Given the description of an element on the screen output the (x, y) to click on. 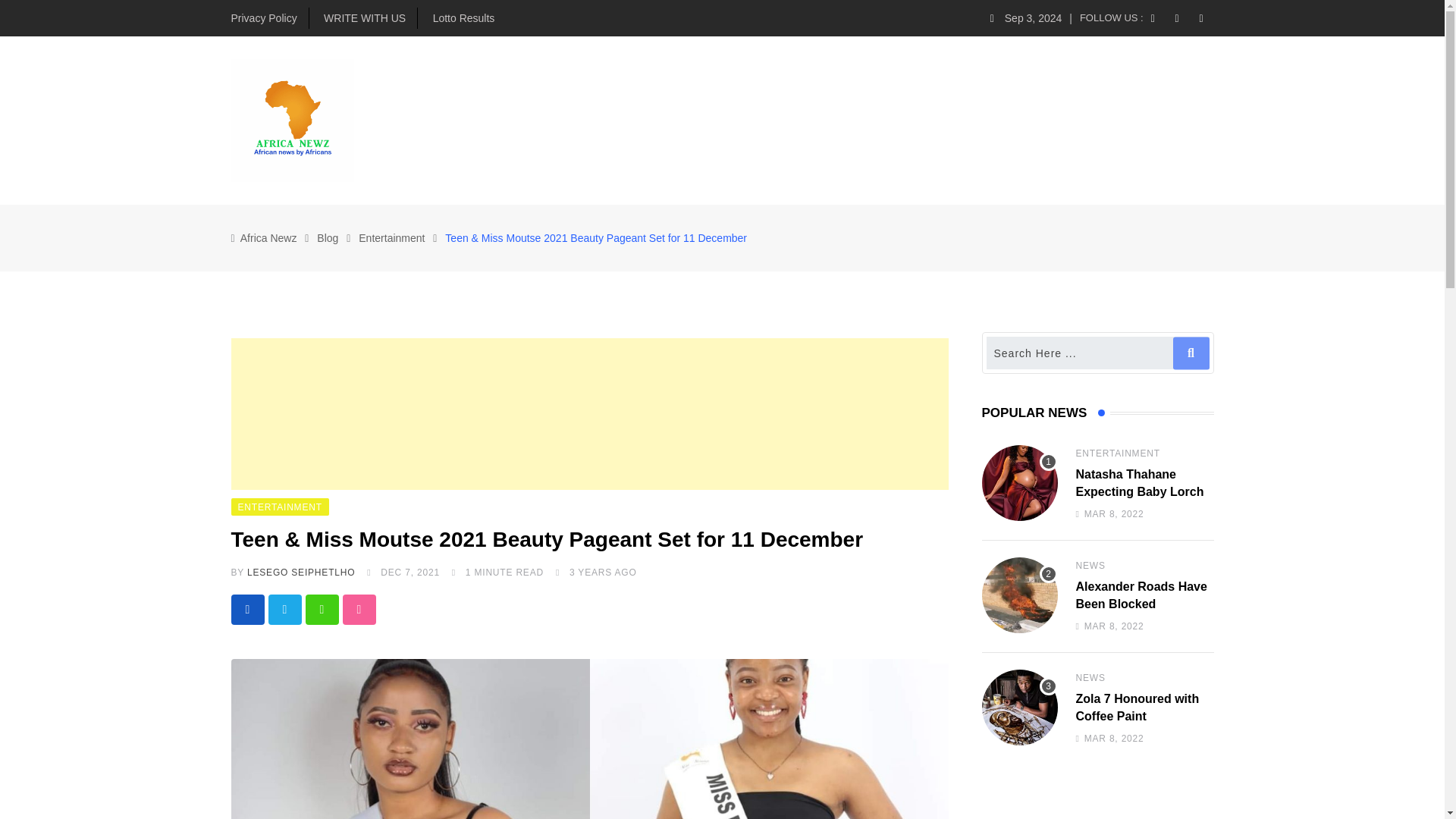
Business (599, 120)
Profiles (1181, 119)
Natasha Thahane Expecting Baby Lorch (1019, 482)
Technology (754, 120)
Sports (674, 120)
Politics (527, 119)
News (464, 120)
Zola 7 Honoured with Coffee Paint (1019, 707)
Lotto Results (463, 18)
Posts by Lesego Seiphetlho (301, 572)
